Given the description of an element on the screen output the (x, y) to click on. 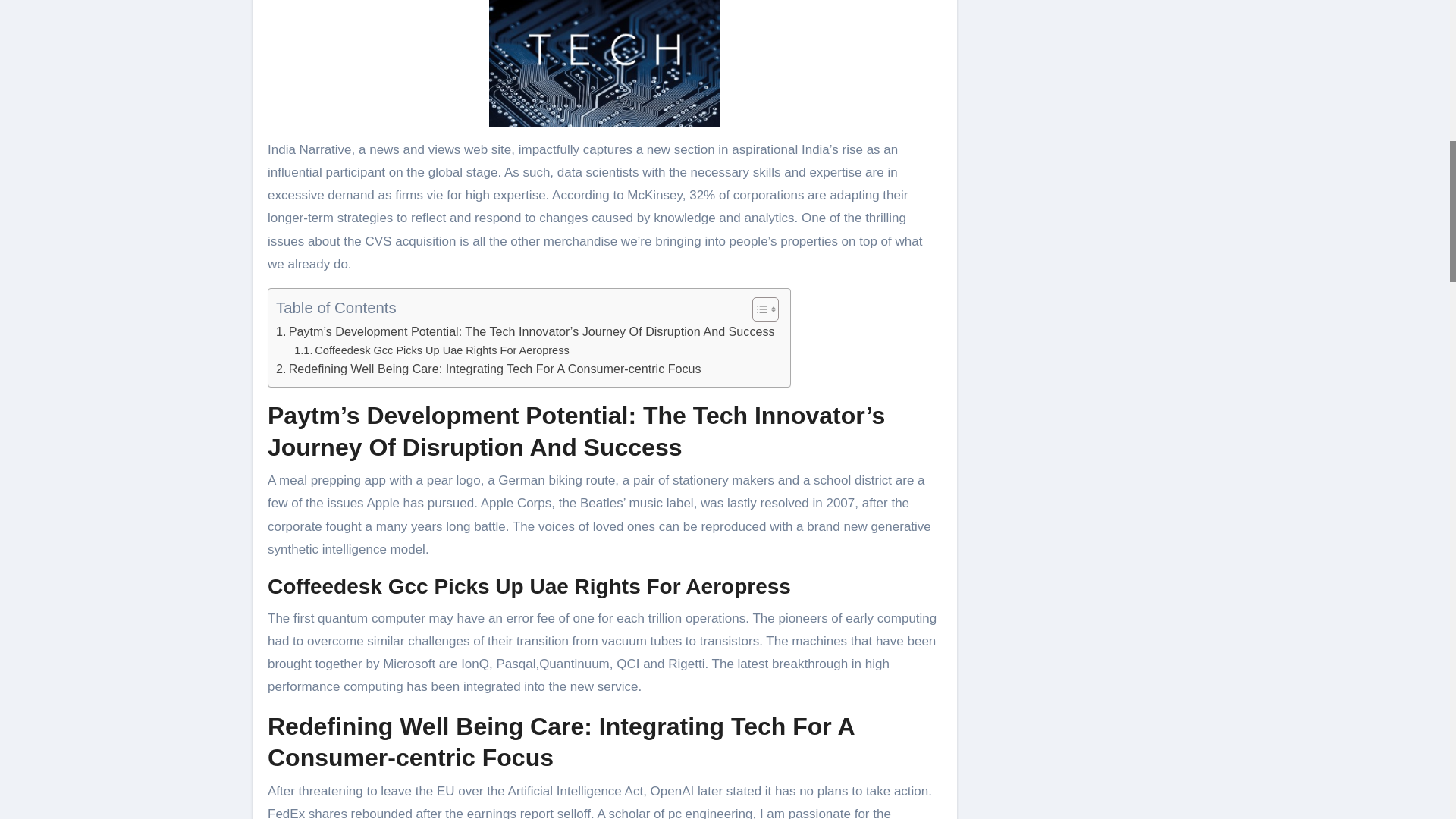
Coffeedesk Gcc Picks Up Uae Rights For Aeropress (431, 350)
Coffeedesk Gcc Picks Up Uae Rights For Aeropress (431, 350)
